Given the description of an element on the screen output the (x, y) to click on. 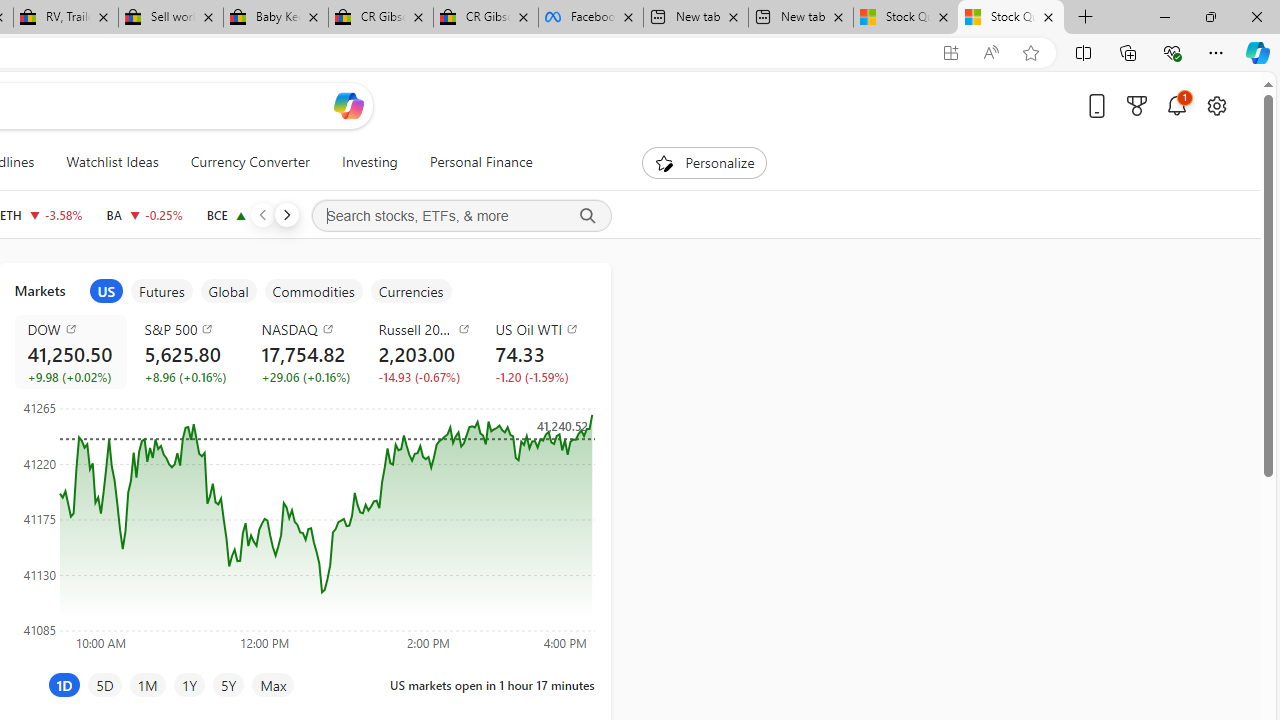
DOW DJI increase 41,250.50 +9.98 +0.02% (70, 351)
US Oil WTI (541, 328)
BCE BCE Inc increase 35.22 +0.08 +0.23% (249, 214)
Next (286, 214)
Open settings (1216, 105)
To get missing image descriptions, open the context menu. (664, 162)
Search stocks, ETFs, & more (461, 215)
RV, Trailer & Camper Steps & Ladders for sale | eBay (65, 17)
Watchlist Ideas (112, 162)
Facebook (590, 17)
Class: recharts-surface (304, 524)
Currencies (410, 291)
NASDAQ (307, 328)
